Given the description of an element on the screen output the (x, y) to click on. 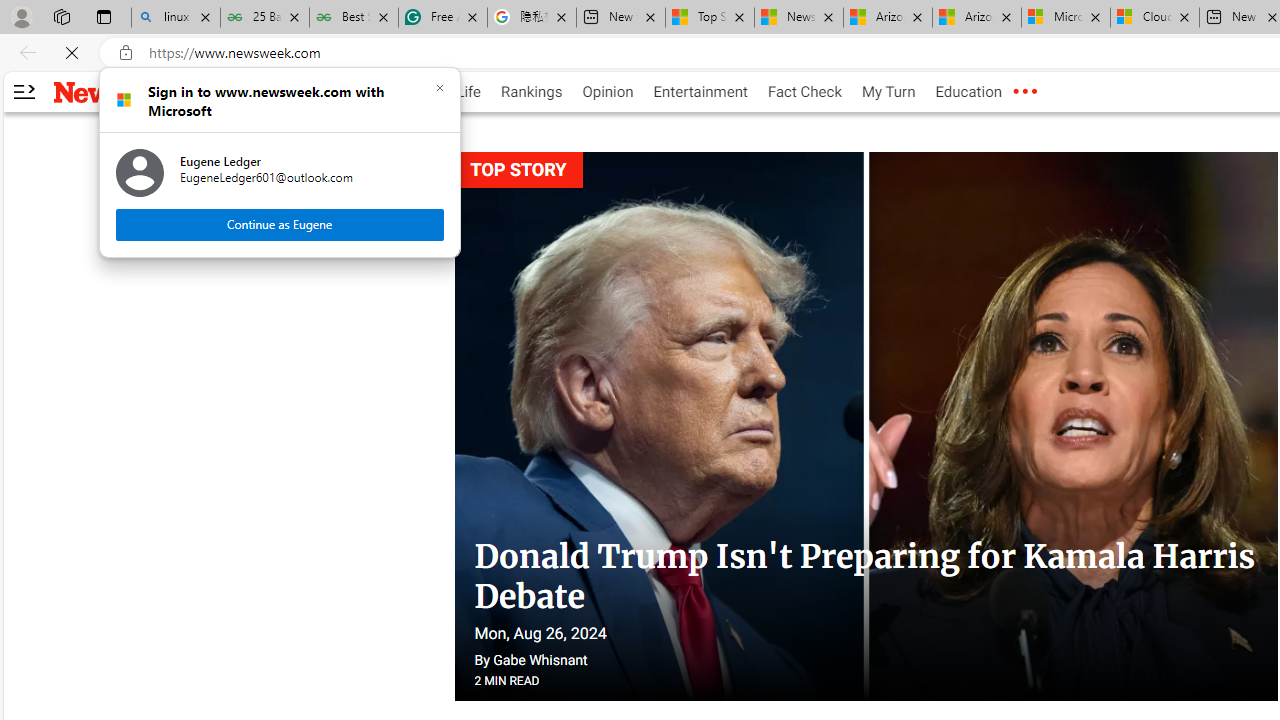
Opinion (607, 92)
Free AI Writing Assistance for Students | Grammarly (443, 17)
Donald Trump Isn't Preparing for Kamala Harris Debate (864, 577)
